Given the description of an element on the screen output the (x, y) to click on. 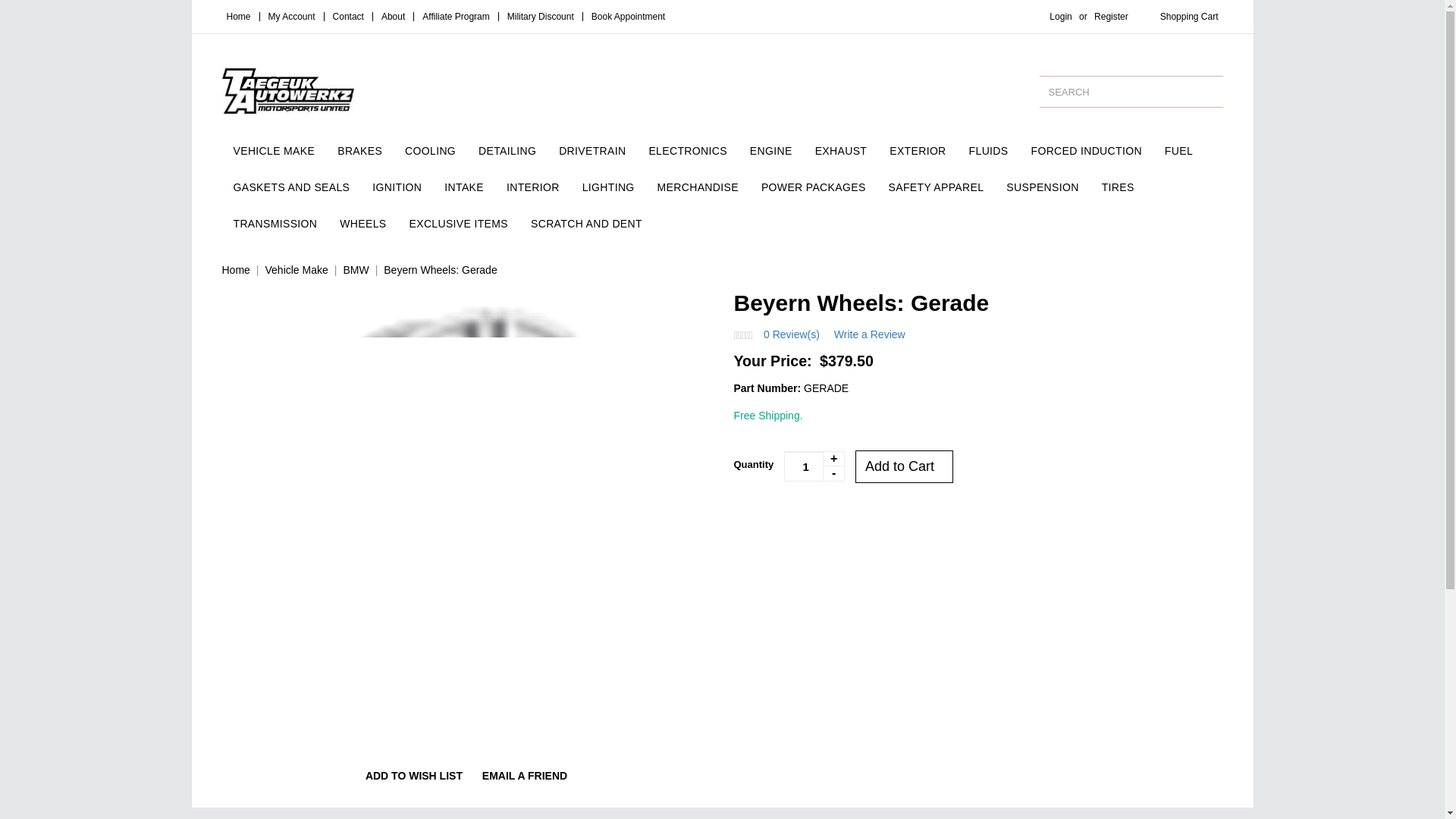
LIGHTING (608, 186)
IGNITION (396, 186)
Affiliate Program (455, 16)
EXHAUST (841, 150)
SUSPENSION (1041, 186)
BRAKES (359, 150)
DRIVETRAIN (592, 150)
FLUIDS (989, 150)
MERCHANDISE (697, 186)
POWER PACKAGES (813, 186)
Shopping Cart (1189, 16)
COOLING (430, 150)
EXTERIOR (916, 150)
Login (1060, 16)
SAFETY APPAREL (936, 186)
